Given the description of an element on the screen output the (x, y) to click on. 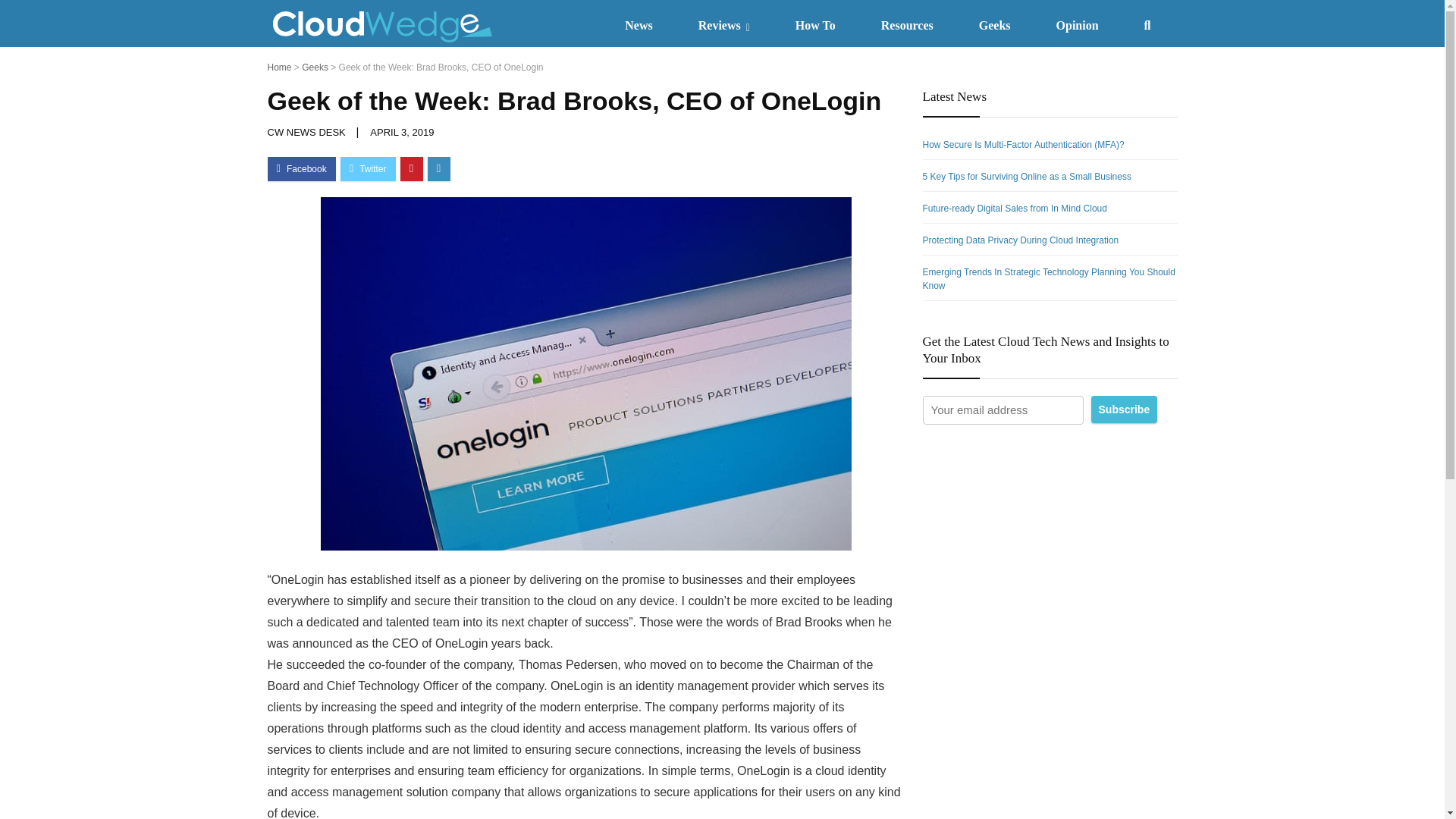
Future-ready Digital Sales from In Mind Cloud (1013, 208)
CW NEWS DESK (306, 132)
News (638, 22)
Reviews (724, 23)
Resources (907, 22)
Home (278, 67)
Subscribe (1123, 409)
Subscribe (1123, 409)
Geeks (994, 22)
